Given the description of an element on the screen output the (x, y) to click on. 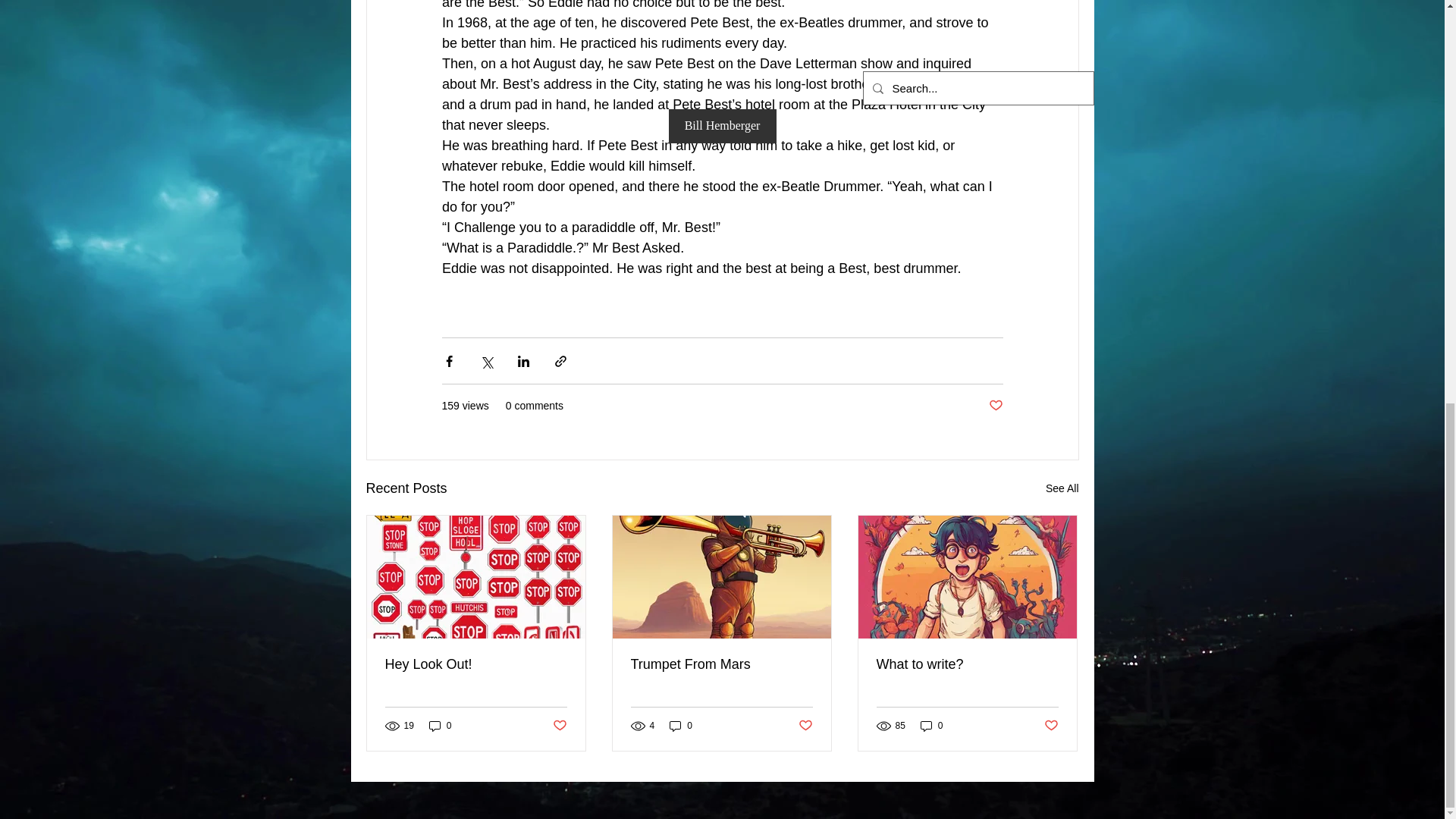
Hey Look Out! (476, 664)
0 (440, 725)
0 (931, 725)
Post not marked as liked (1050, 725)
Post not marked as liked (995, 406)
Trumpet From Mars (721, 664)
Post not marked as liked (558, 725)
0 (681, 725)
What to write? (967, 664)
See All (1061, 488)
